Given the description of an element on the screen output the (x, y) to click on. 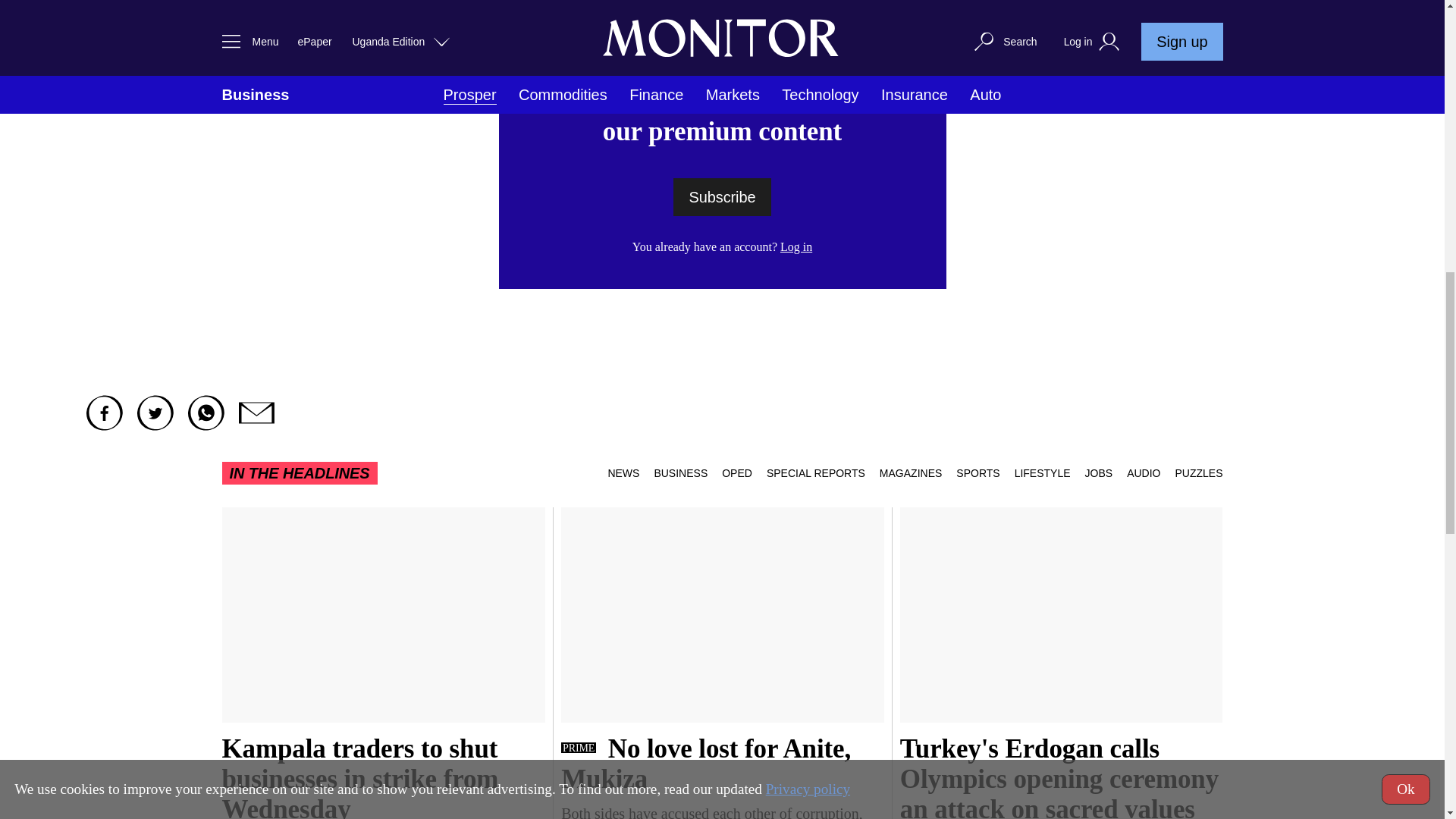
PRIME (577, 747)
